Given the description of an element on the screen output the (x, y) to click on. 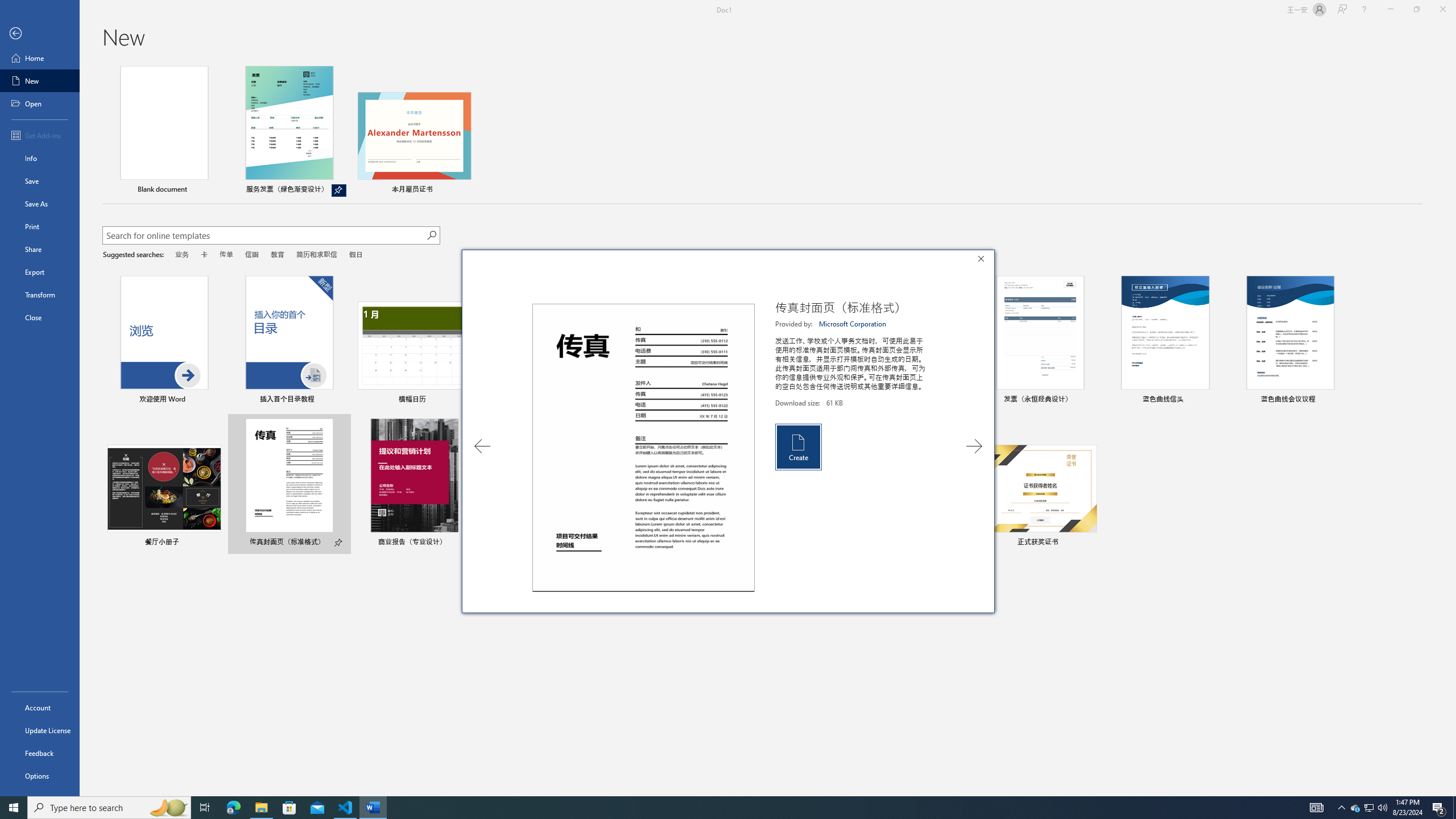
Unpin from list (338, 190)
Search for online templates (264, 237)
Info (40, 157)
Blank document (164, 131)
